Given the description of an element on the screen output the (x, y) to click on. 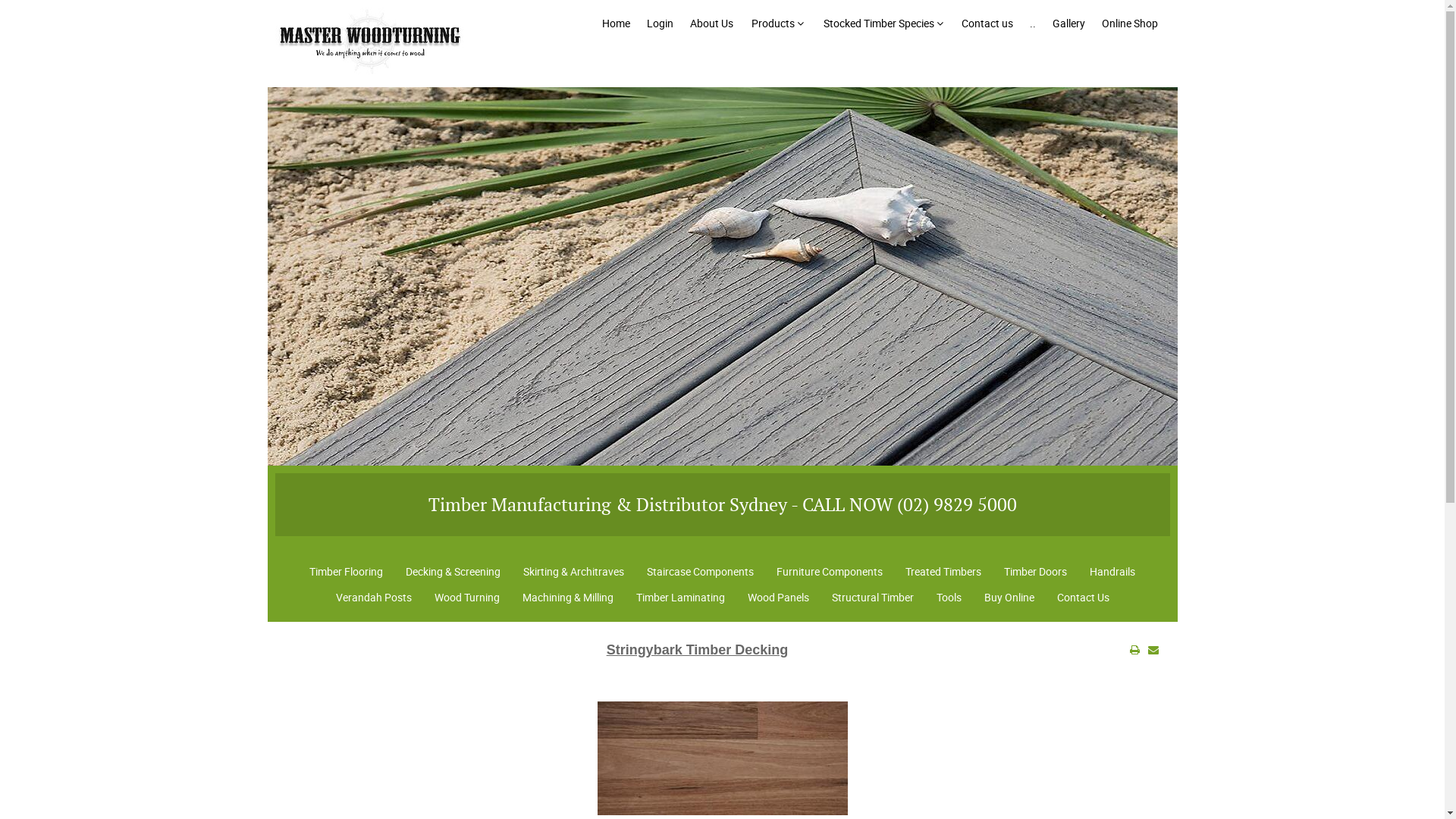
Print article < Stringybark Timber Decking > Element type: hover (1134, 649)
Wood Panels Element type: text (777, 597)
Buy Online Element type: text (1008, 597)
Tools Element type: text (948, 597)
Stocked Timber Species Element type: text (883, 23)
Products Element type: text (776, 23)
Verandah Posts Element type: text (373, 597)
Staircase Components Element type: text (700, 571)
Timber Laminating Element type: text (680, 597)
Skirting & Architraves Element type: text (573, 571)
Gallery Element type: text (1068, 23)
Timber Flooring Element type: text (346, 571)
.. Element type: text (1032, 23)
Handrails Element type: text (1112, 571)
Contact Us Element type: text (1082, 597)
Machining & Milling Element type: text (567, 597)
Login Element type: text (659, 23)
About Us Element type: text (711, 23)
stringybark-timber-decking Element type: hover (722, 758)
Furniture Components Element type: text (829, 571)
Structural Timber Element type: text (872, 597)
Email this link to a friend Element type: hover (1153, 649)
Treated Timbers Element type: text (943, 571)
Online Shop Element type: text (1128, 23)
Contact us Element type: text (986, 23)
Wood Turning Element type: text (467, 597)
Home Element type: text (615, 23)
Decking & Screening Element type: text (452, 571)
Timber Doors Element type: text (1035, 571)
